Given the description of an element on the screen output the (x, y) to click on. 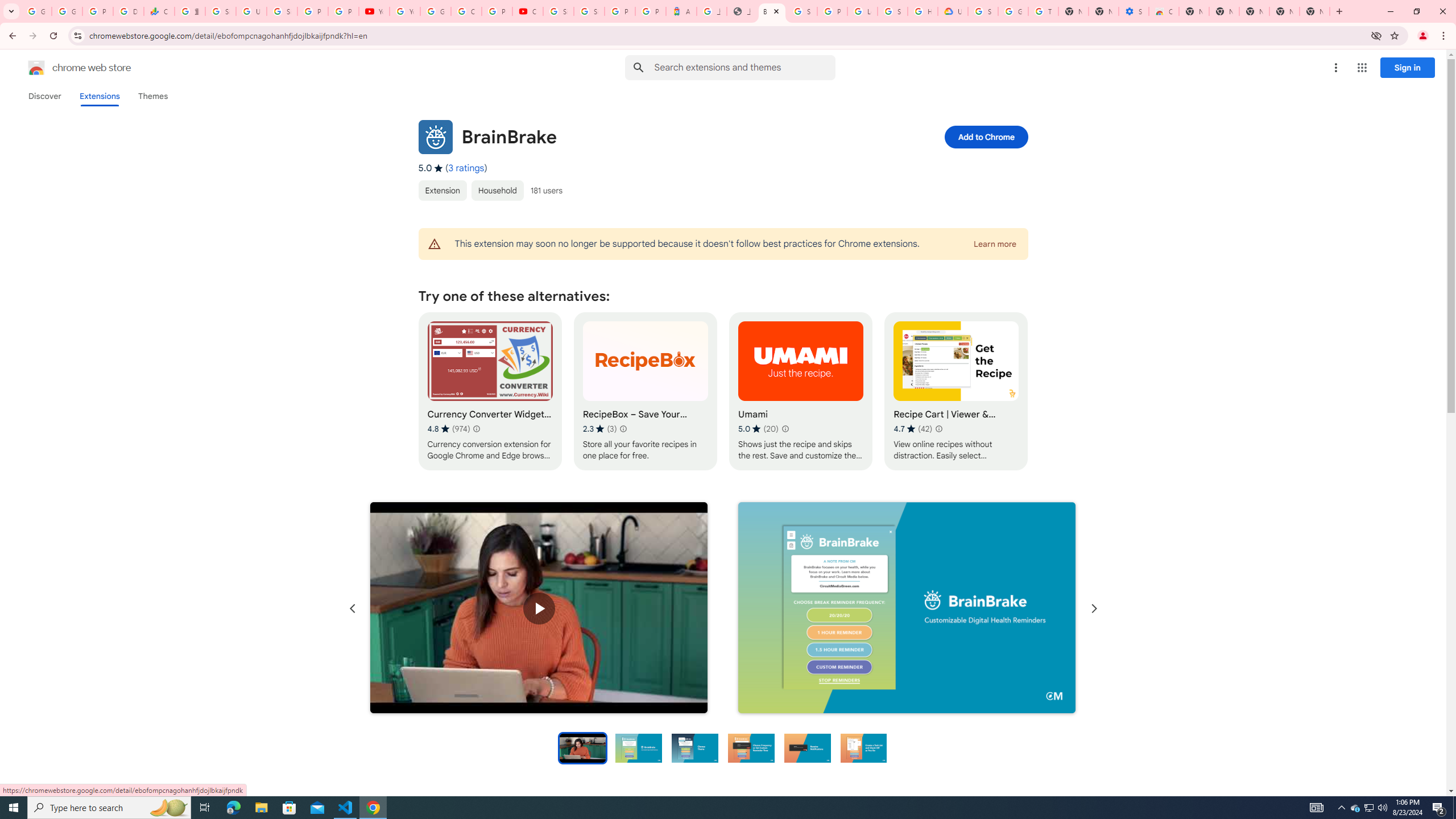
Average rating 4.8 out of 5 stars. 974 ratings. (448, 428)
Sign in - Google Accounts (801, 11)
Item video thumbnail (582, 747)
Sign in - Google Accounts (558, 11)
Privacy Checkup (343, 11)
Extension (442, 190)
Umami (800, 391)
Average rating 5 out of 5 stars. 20 ratings. (758, 428)
Sign in - Google Accounts (892, 11)
Currencies - Google Finance (158, 11)
